Given the description of an element on the screen output the (x, y) to click on. 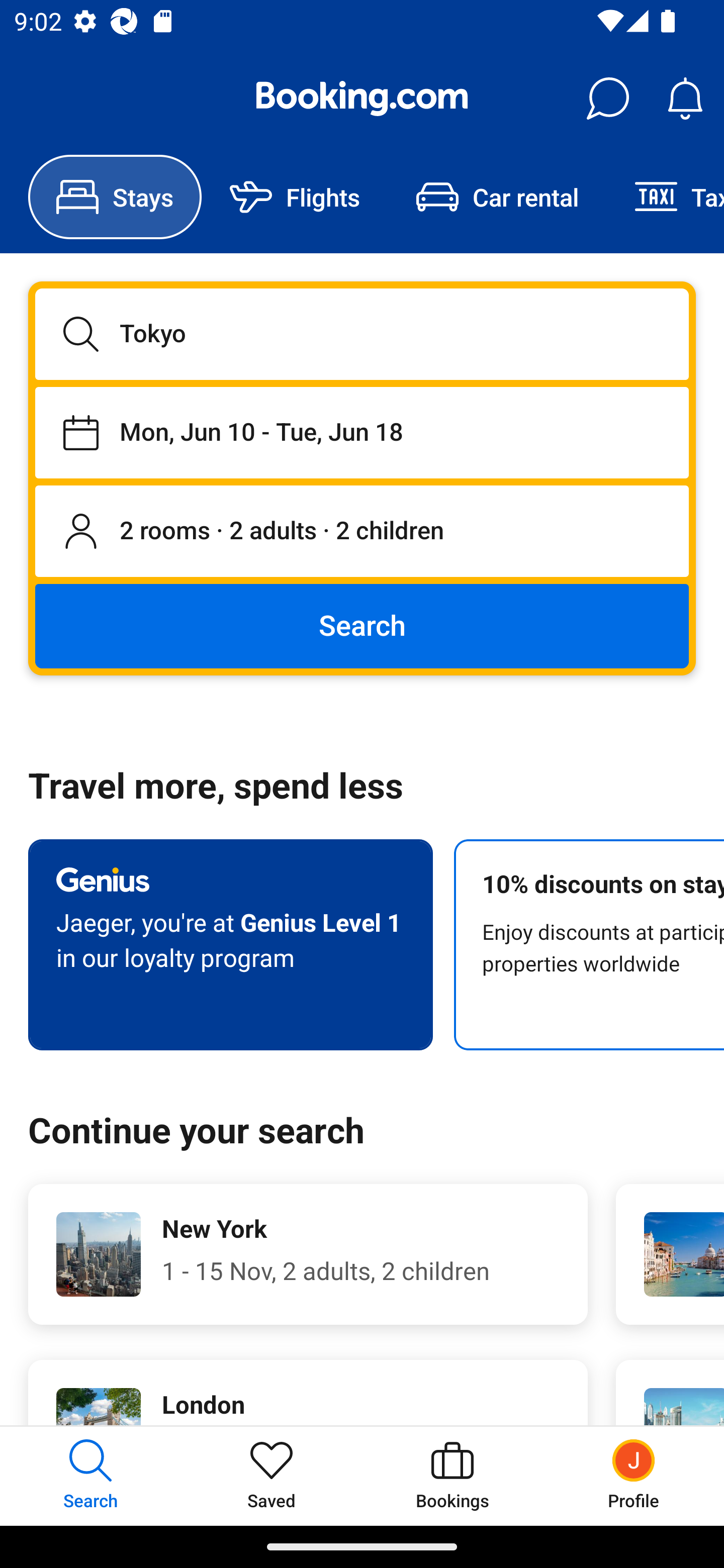
Messages (607, 98)
Notifications (685, 98)
Stays (114, 197)
Flights (294, 197)
Car rental (497, 197)
Taxi (665, 197)
Tokyo (361, 333)
Staying from Mon, Jun 10 until Tue, Jun 18 (361, 432)
2 rooms, 2 adults, 2 children (361, 531)
Search (361, 625)
New York 1 - 15 Nov, 2 adults, 2 children (307, 1253)
Saved (271, 1475)
Bookings (452, 1475)
Profile (633, 1475)
